Given the description of an element on the screen output the (x, y) to click on. 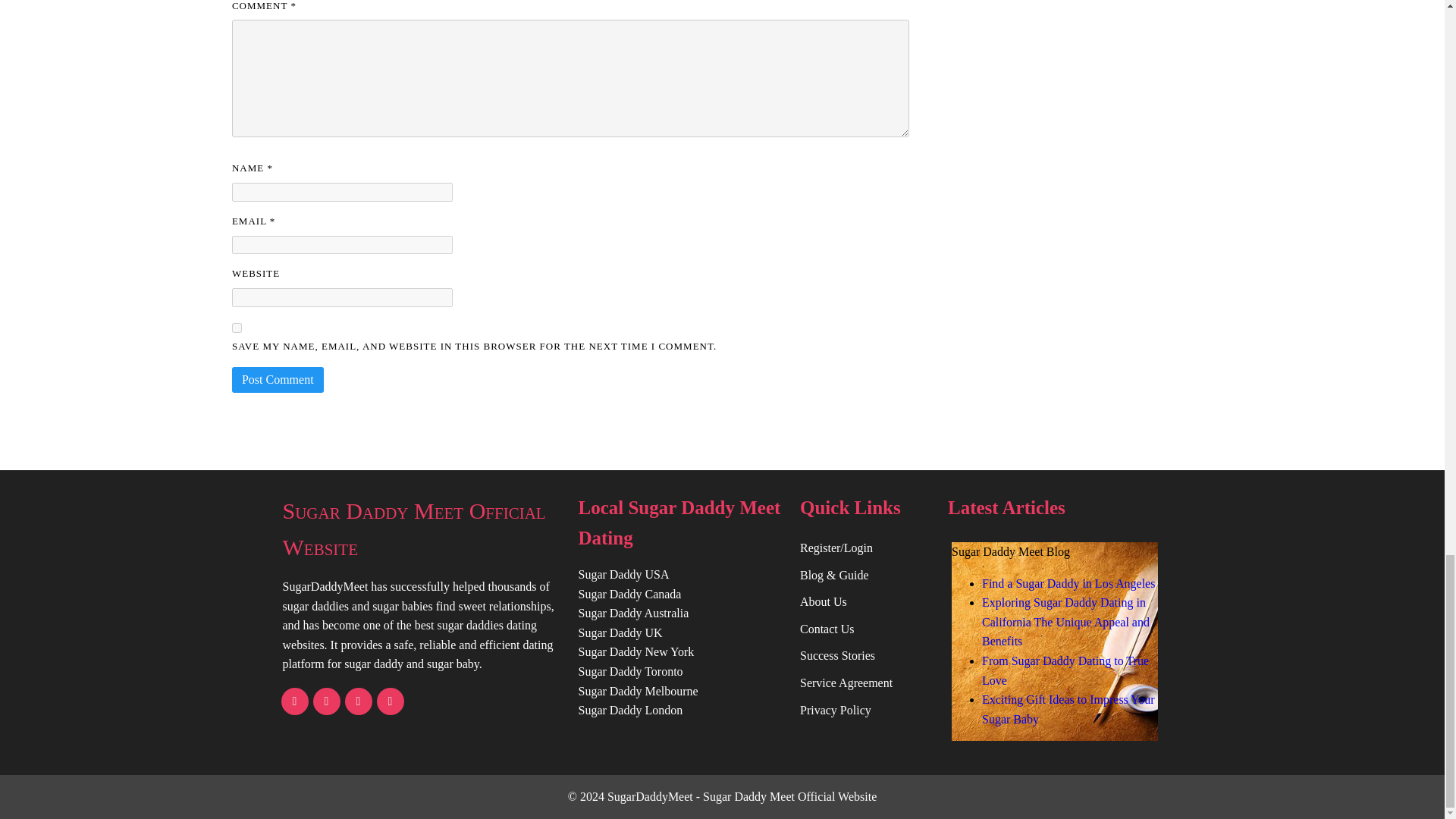
Post Comment (277, 379)
Post Comment (277, 379)
yes (236, 327)
